Given the description of an element on the screen output the (x, y) to click on. 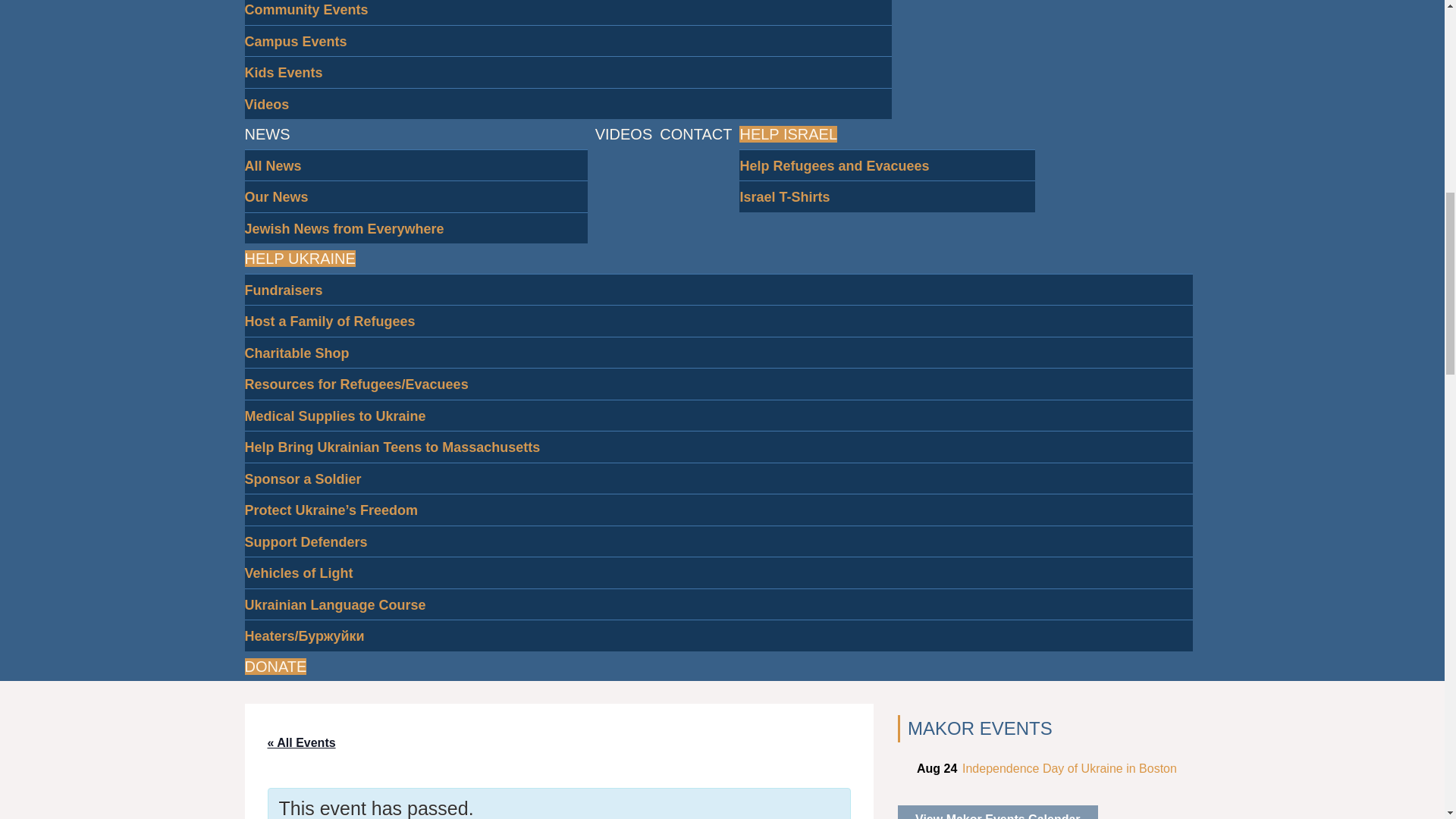
Community Events (306, 13)
NEWS (266, 134)
Help Refugees and Evacuees (833, 165)
VIDEOS (623, 134)
Israel T-Shirts (784, 196)
Our News (275, 196)
Jewish News from Everywhere (344, 227)
HELP ISRAEL (788, 134)
CONTACT (695, 134)
Videos (266, 103)
Campus Events (295, 41)
Kids Events (282, 72)
HELP UKRAINE (299, 258)
All News (272, 165)
